Given the description of an element on the screen output the (x, y) to click on. 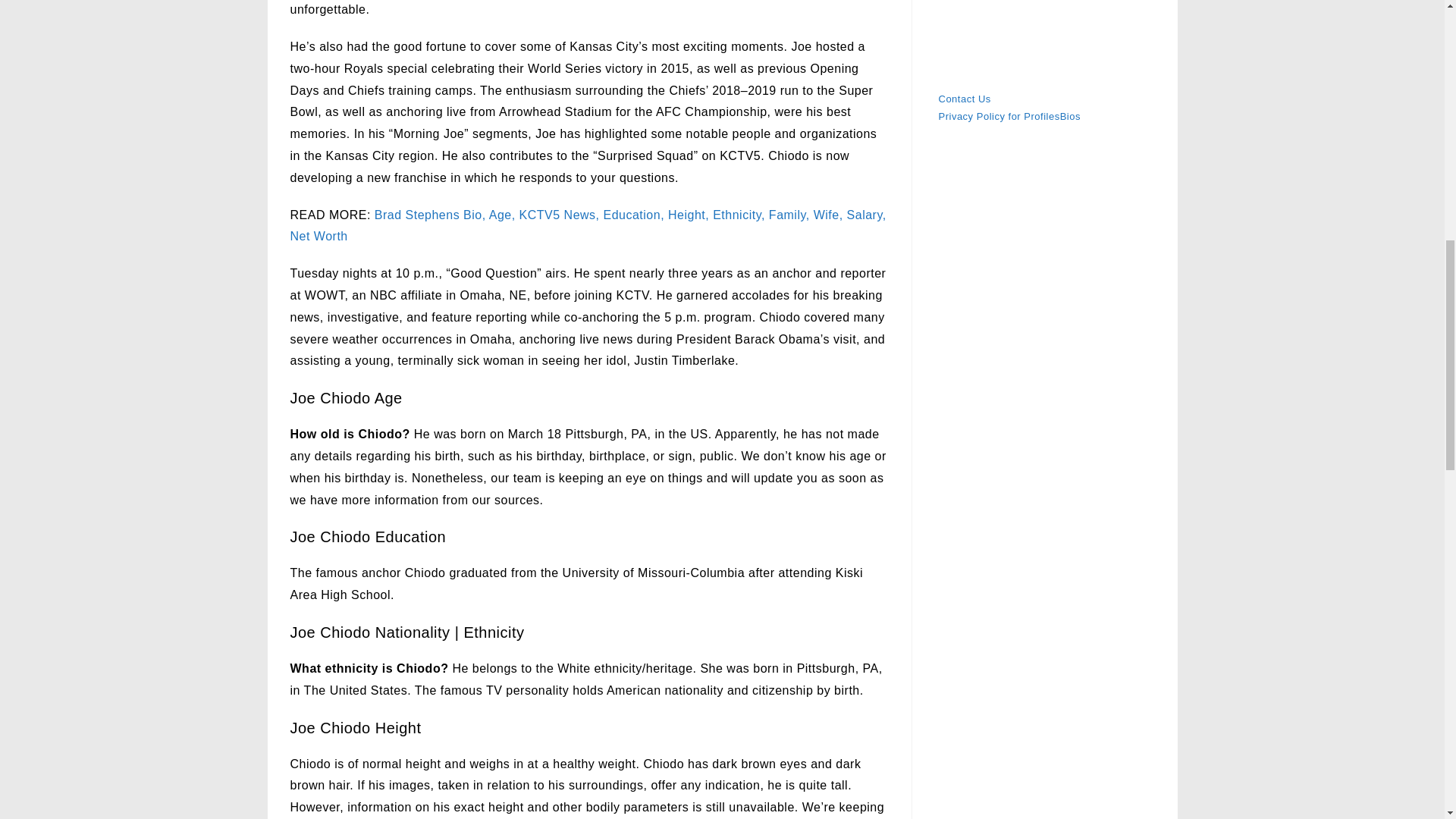
Contact Us (965, 98)
Privacy Policy for ProfilesBios (1009, 116)
